Given the description of an element on the screen output the (x, y) to click on. 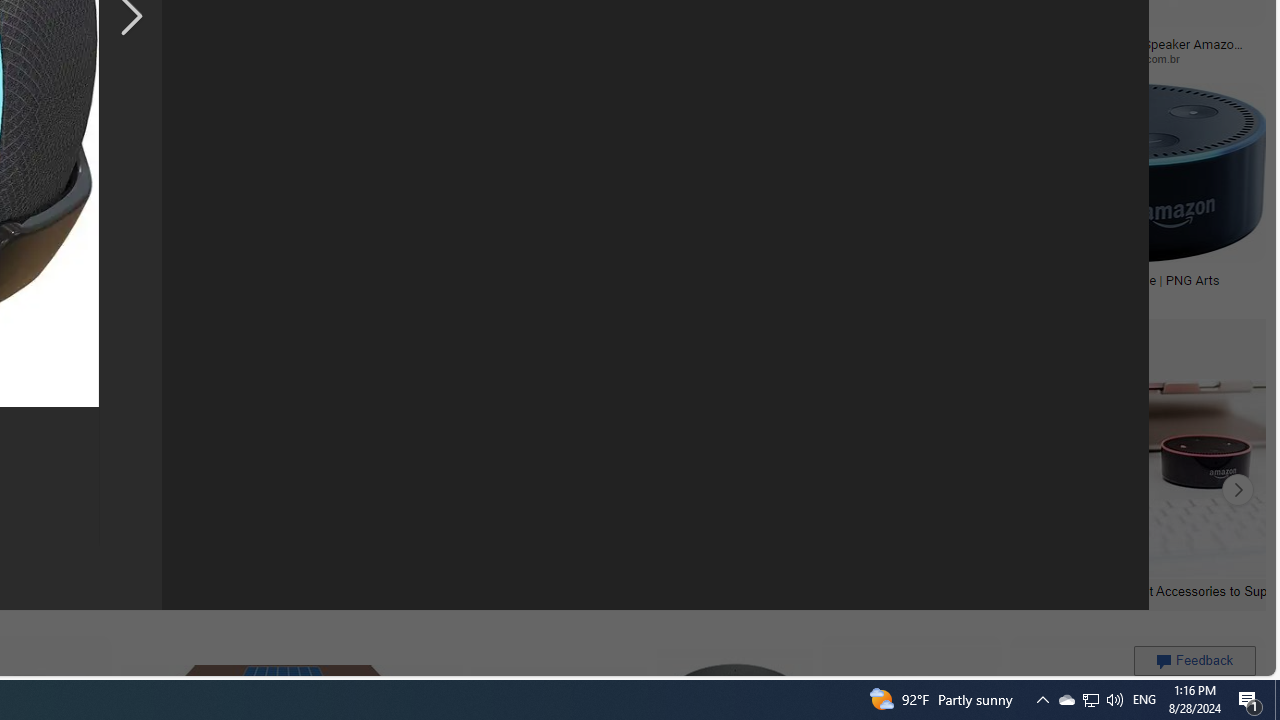
Amazonecho Dot With Alexa (Gen 4) (836, 279)
currys.co.uk (602, 295)
Echo Dot Accessories (175, 589)
pngarts.com (1123, 295)
